Given the description of an element on the screen output the (x, y) to click on. 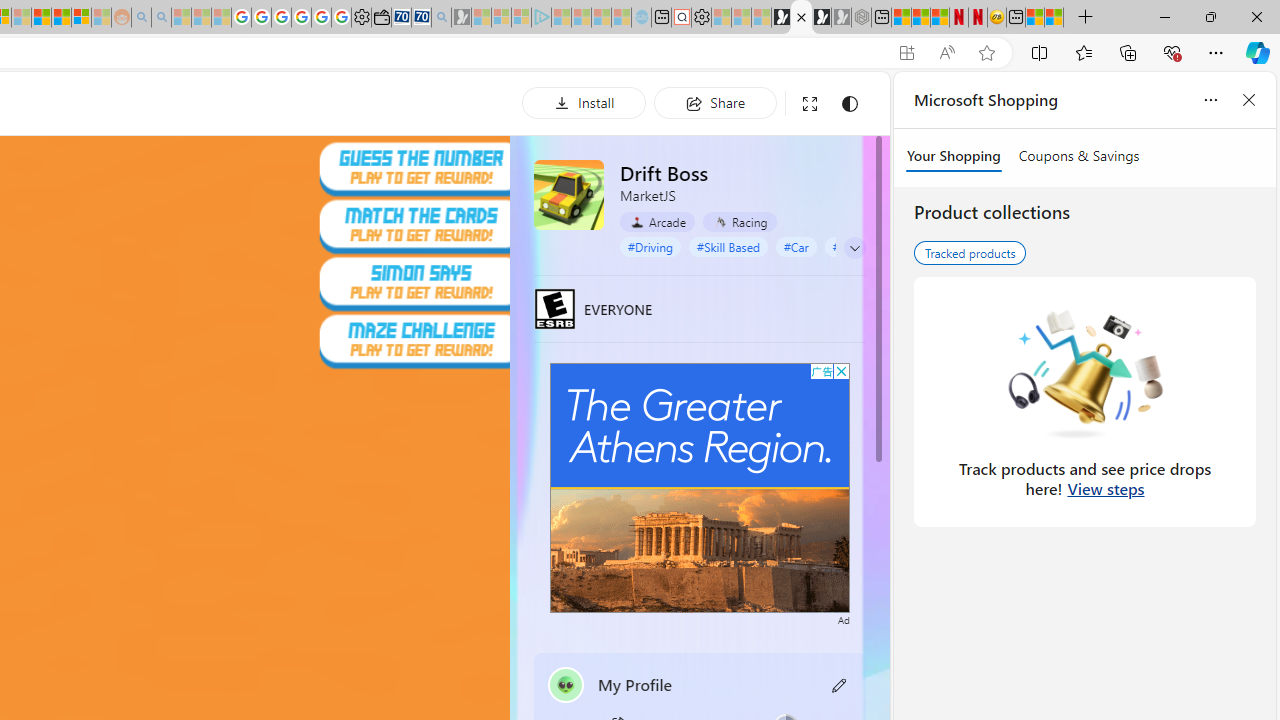
#Car (795, 246)
Browser essentials (1171, 52)
Split screen (1039, 52)
#Endless (856, 246)
Class: control (855, 248)
#Skill Based (728, 246)
Microsoft account | Privacy - Sleeping (521, 17)
Favorites (1083, 52)
""'s avatar (565, 684)
